Given the description of an element on the screen output the (x, y) to click on. 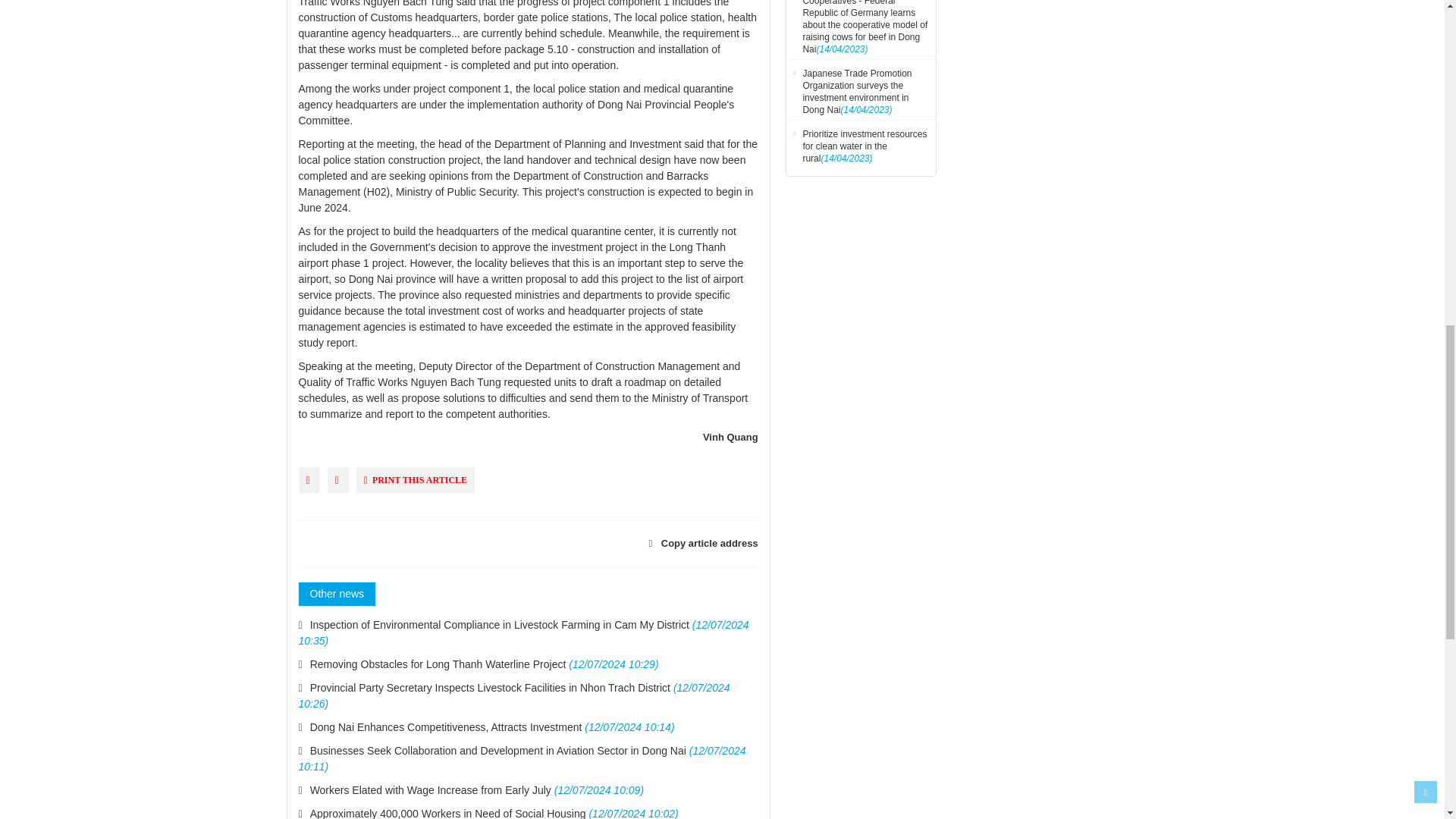
Copy article address (692, 542)
PRINT THIS ARTICLE (415, 480)
